Given the description of an element on the screen output the (x, y) to click on. 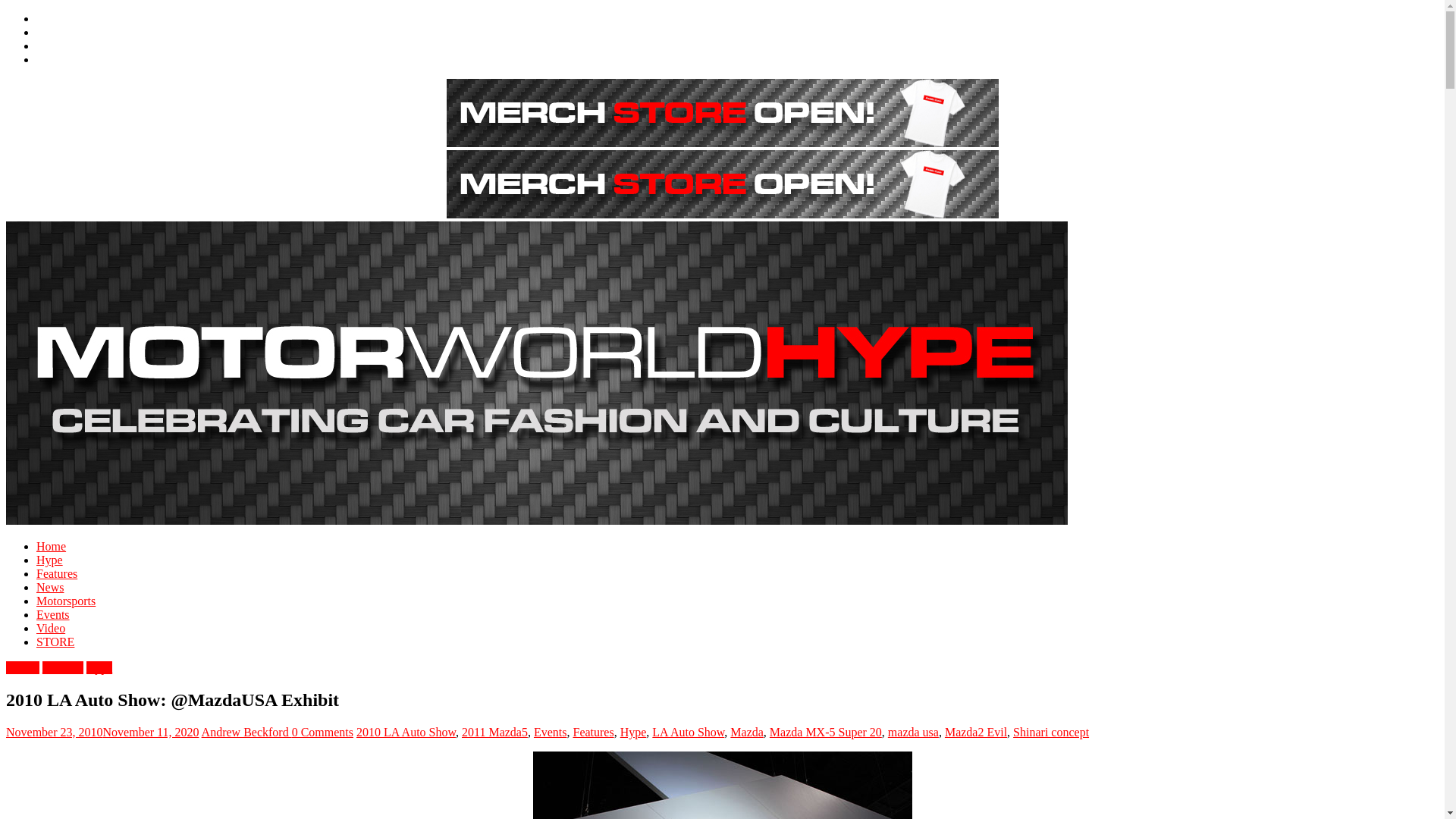
2010 LA Auto Show (405, 731)
News (50, 586)
Shinari concept (1051, 731)
Home (50, 545)
0 Comments (322, 731)
Hype (99, 667)
mazda usa (913, 731)
STORE (55, 641)
Motorsports (66, 600)
Mazda MX-5 Super 20 (826, 731)
Features (56, 573)
November 23, 2010November 11, 2020 (101, 731)
Video (50, 627)
Events (550, 731)
